Given the description of an element on the screen output the (x, y) to click on. 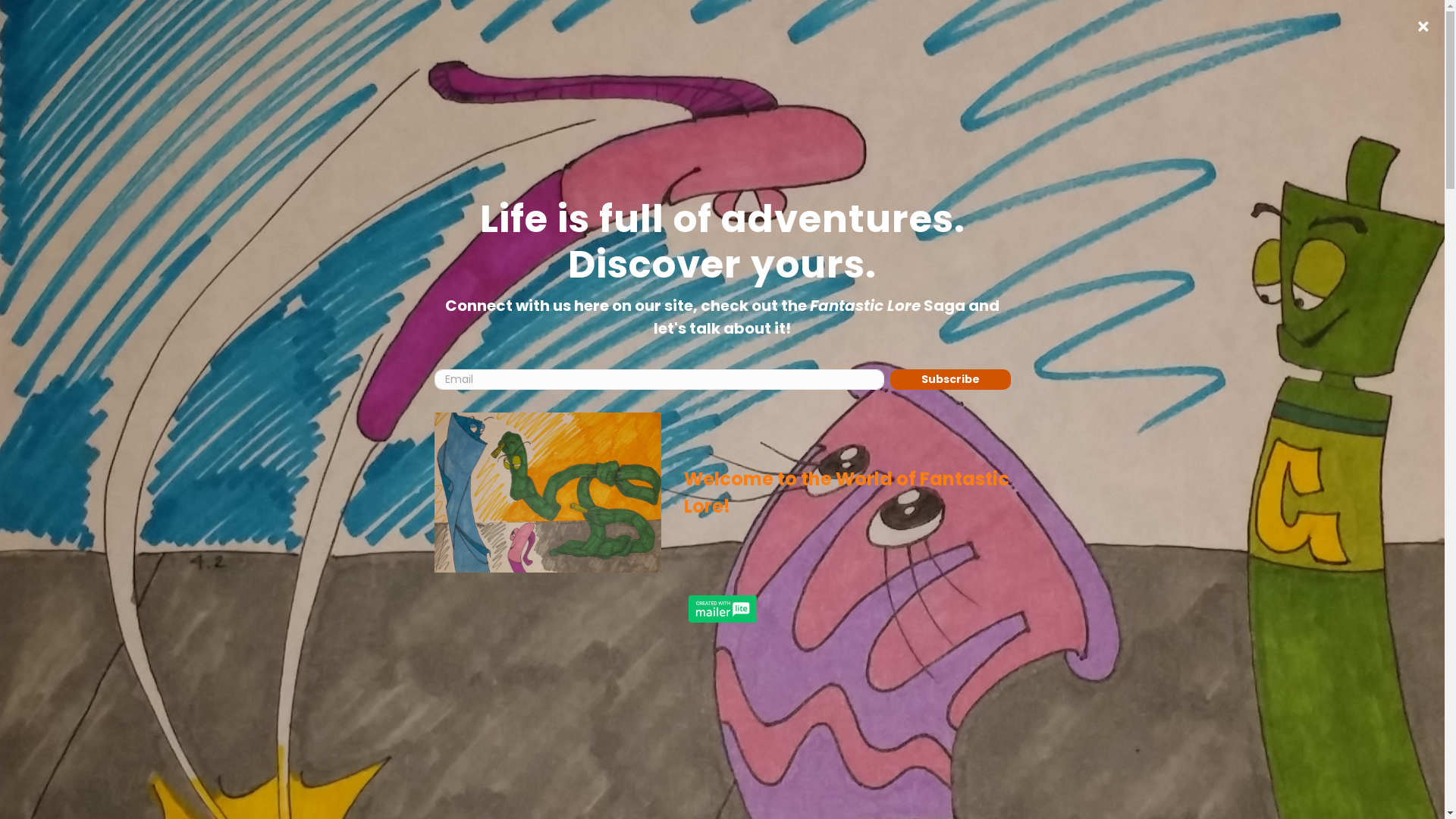
Blog Element type: text (1022, 30)
About Element type: text (930, 30)
Books Element type: text (832, 30)
Contact Element type: text (1104, 30)
Home Element type: text (736, 30)
E: info@3WizeSwans.com Element type: text (929, 520)
